Given the description of an element on the screen output the (x, y) to click on. 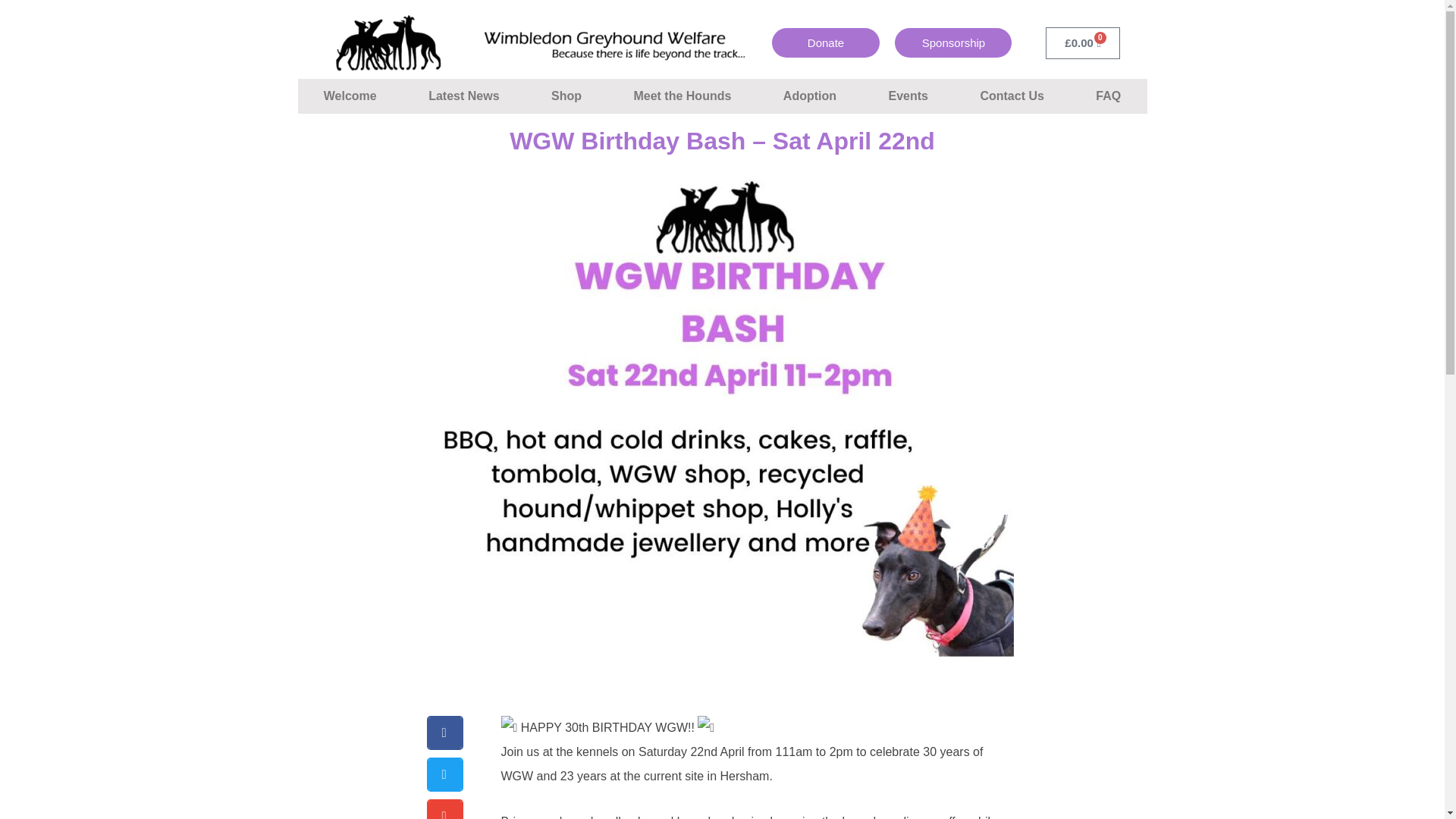
FAQ (1108, 95)
Donate (825, 42)
Sponsorship (953, 42)
Contact Us (1011, 95)
Welcome (349, 95)
Meet the Hounds (682, 95)
Events (907, 95)
Latest News (464, 95)
Shop (566, 95)
Adoption (810, 95)
